Given the description of an element on the screen output the (x, y) to click on. 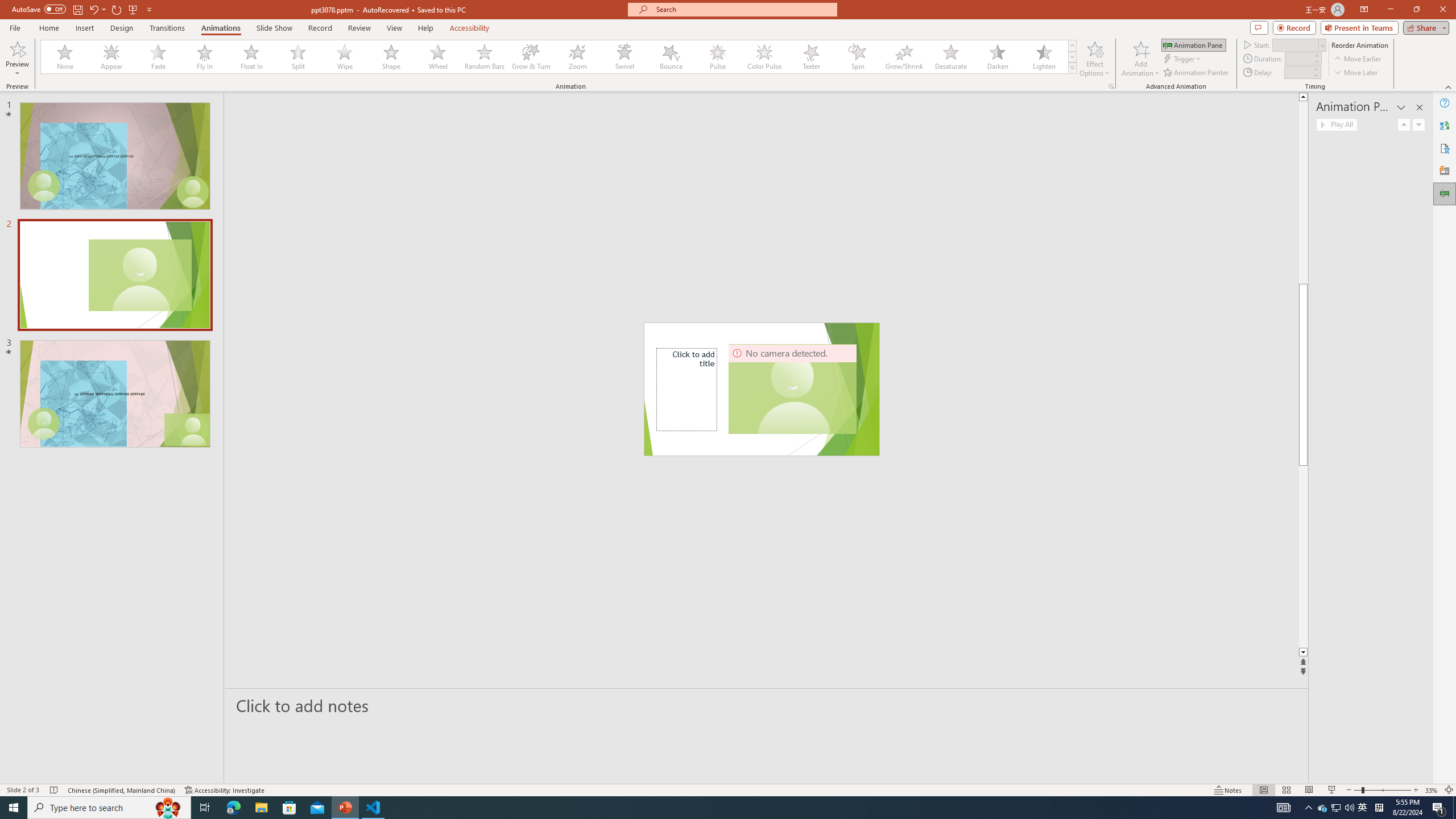
Shape (391, 56)
Fly In (205, 56)
Move Later (1355, 72)
Bounce (670, 56)
